Given the description of an element on the screen output the (x, y) to click on. 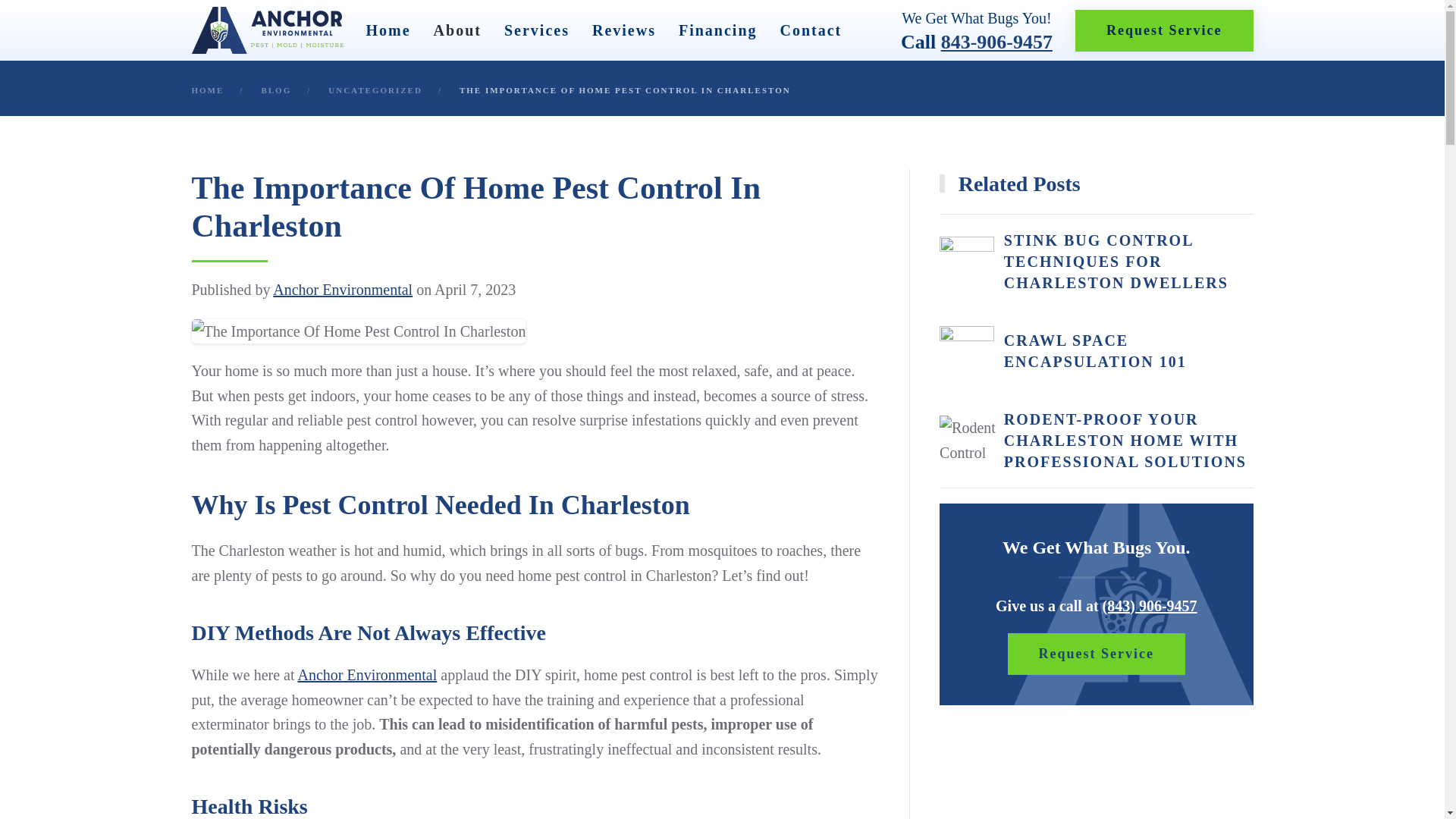
Services (536, 30)
Contact (809, 30)
843-906-9457 (996, 41)
Financing (717, 30)
Reviews (624, 30)
